Given the description of an element on the screen output the (x, y) to click on. 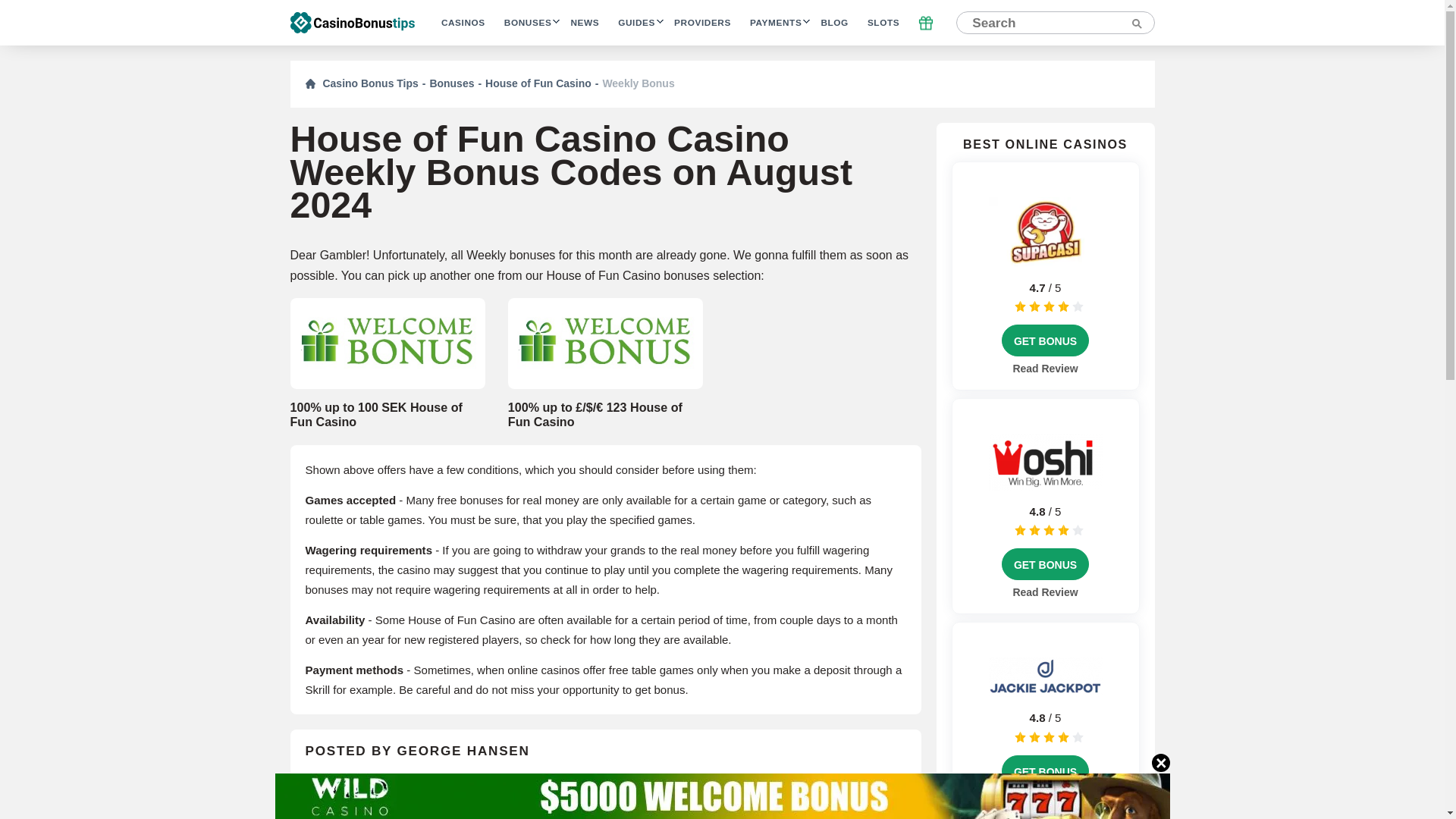
PROVIDERS (702, 22)
NEWS (584, 22)
BLOG (834, 22)
BONUSES (527, 22)
SLOTS (883, 22)
PAYMENTS (775, 22)
CASINOS (462, 22)
GUIDES (636, 22)
